Given the description of an element on the screen output the (x, y) to click on. 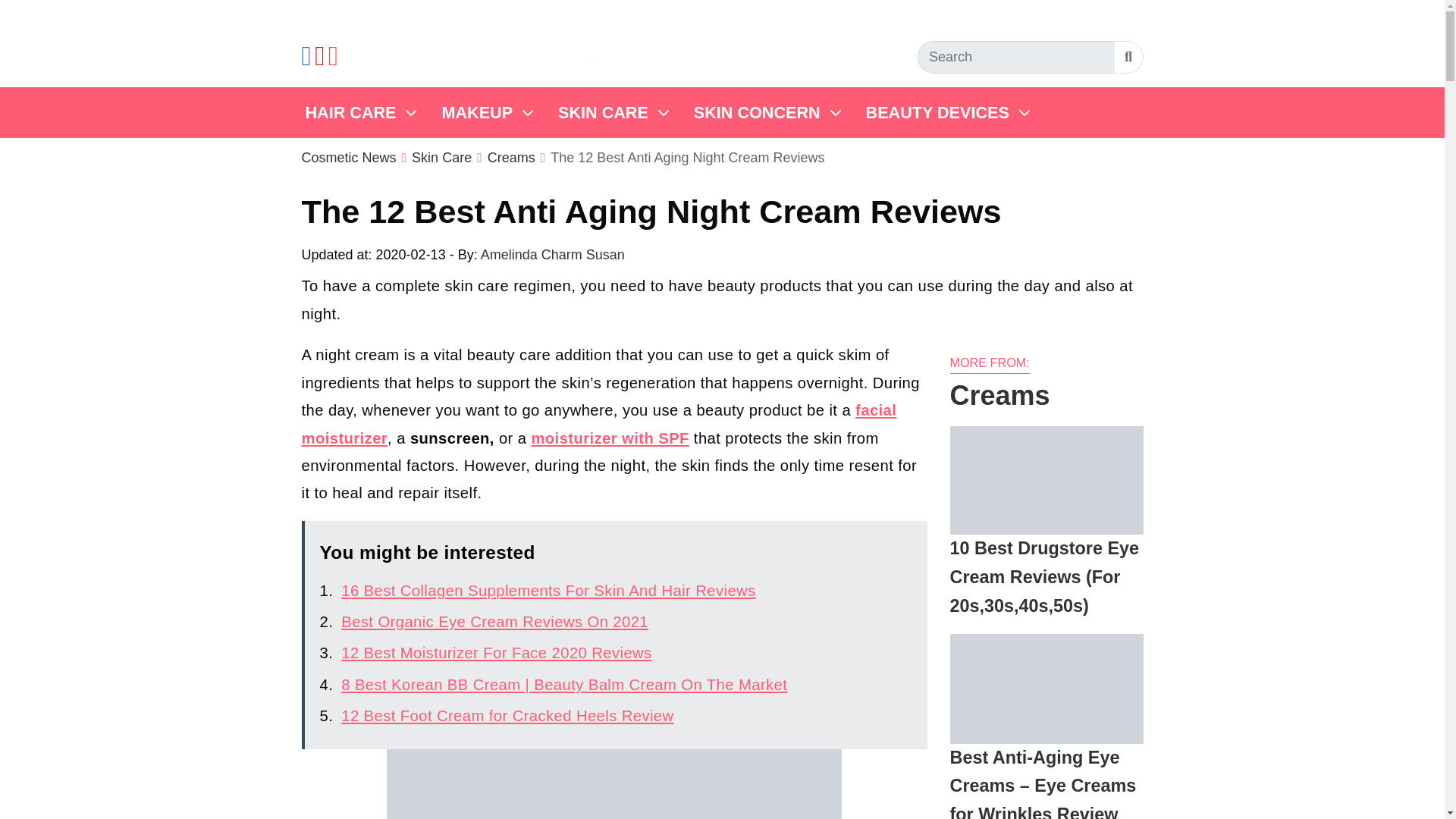
Go to the Skin Care Category archives. (441, 157)
12 Best Moisturizer For Face 2020 Reviews (495, 652)
MAKEUP (484, 111)
Best Organic Eye Cream Reviews On 2021 (493, 621)
SKIN CONCERN (764, 111)
SKIN CARE (610, 111)
BEAUTY DEVICES (944, 111)
Go to Cosmetic News. (348, 157)
Go to the Creams Category archives. (511, 157)
16 Best Collagen Supplements For Skin And Hair Reviews (547, 590)
